Given the description of an element on the screen output the (x, y) to click on. 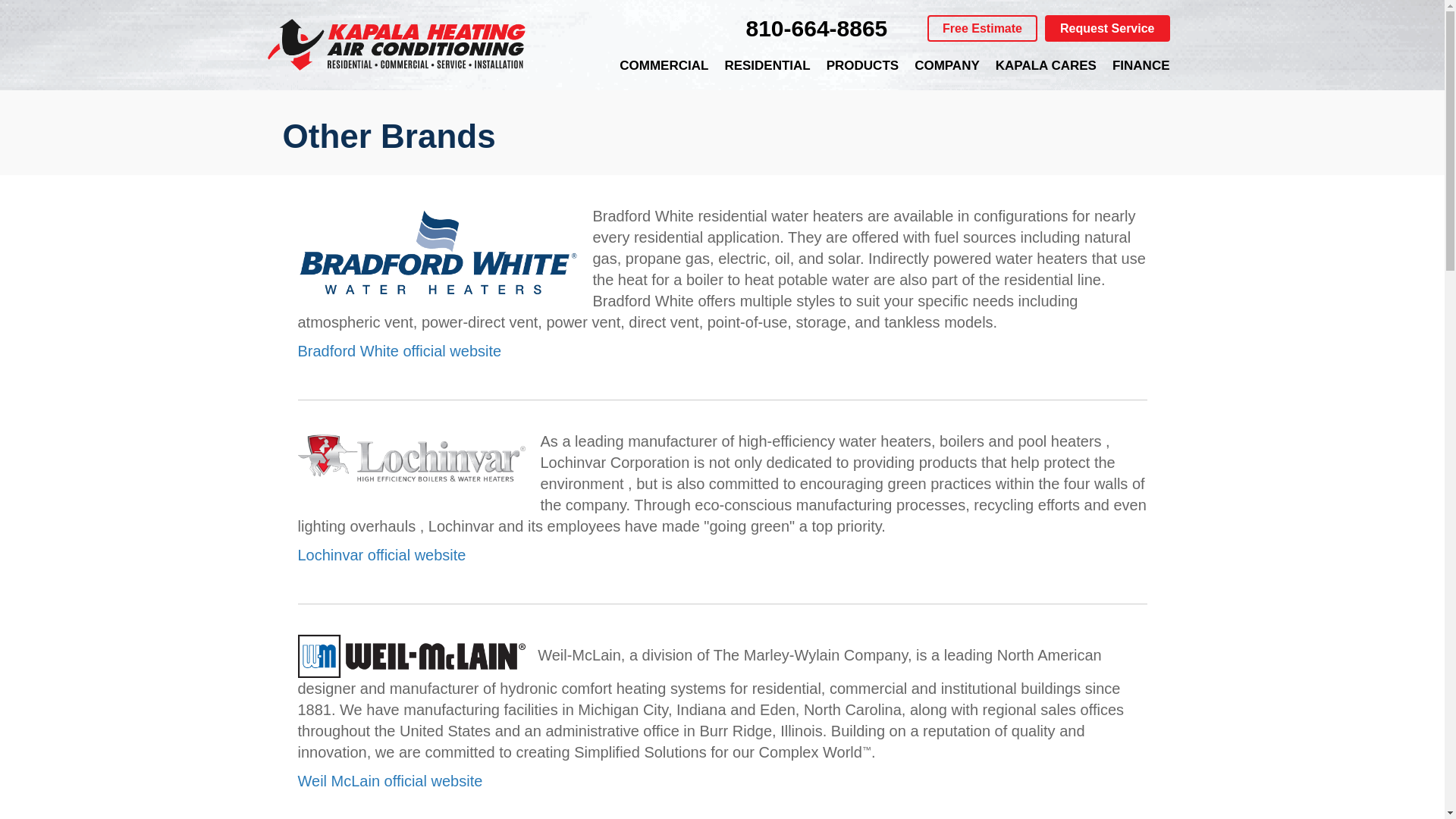
Request Service (1107, 28)
PRODUCTS (861, 65)
COMMERCIAL (663, 65)
810-664-8865 (815, 27)
COMPANY (947, 65)
KAP-Logo (395, 45)
RESIDENTIAL (766, 65)
Free Estimate (981, 28)
